Given the description of an element on the screen output the (x, y) to click on. 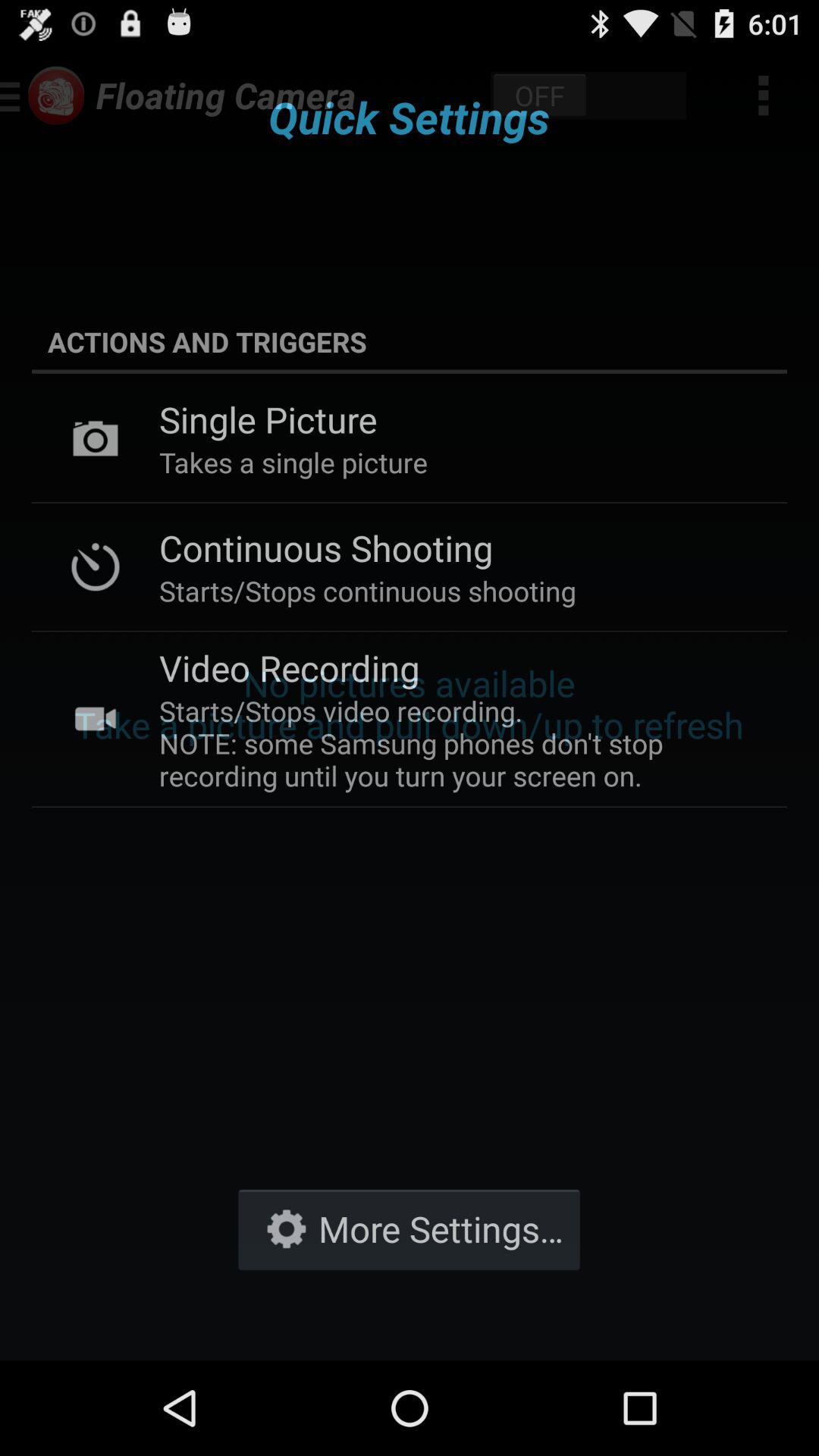
press the item above the continuous shooting icon (293, 462)
